Given the description of an element on the screen output the (x, y) to click on. 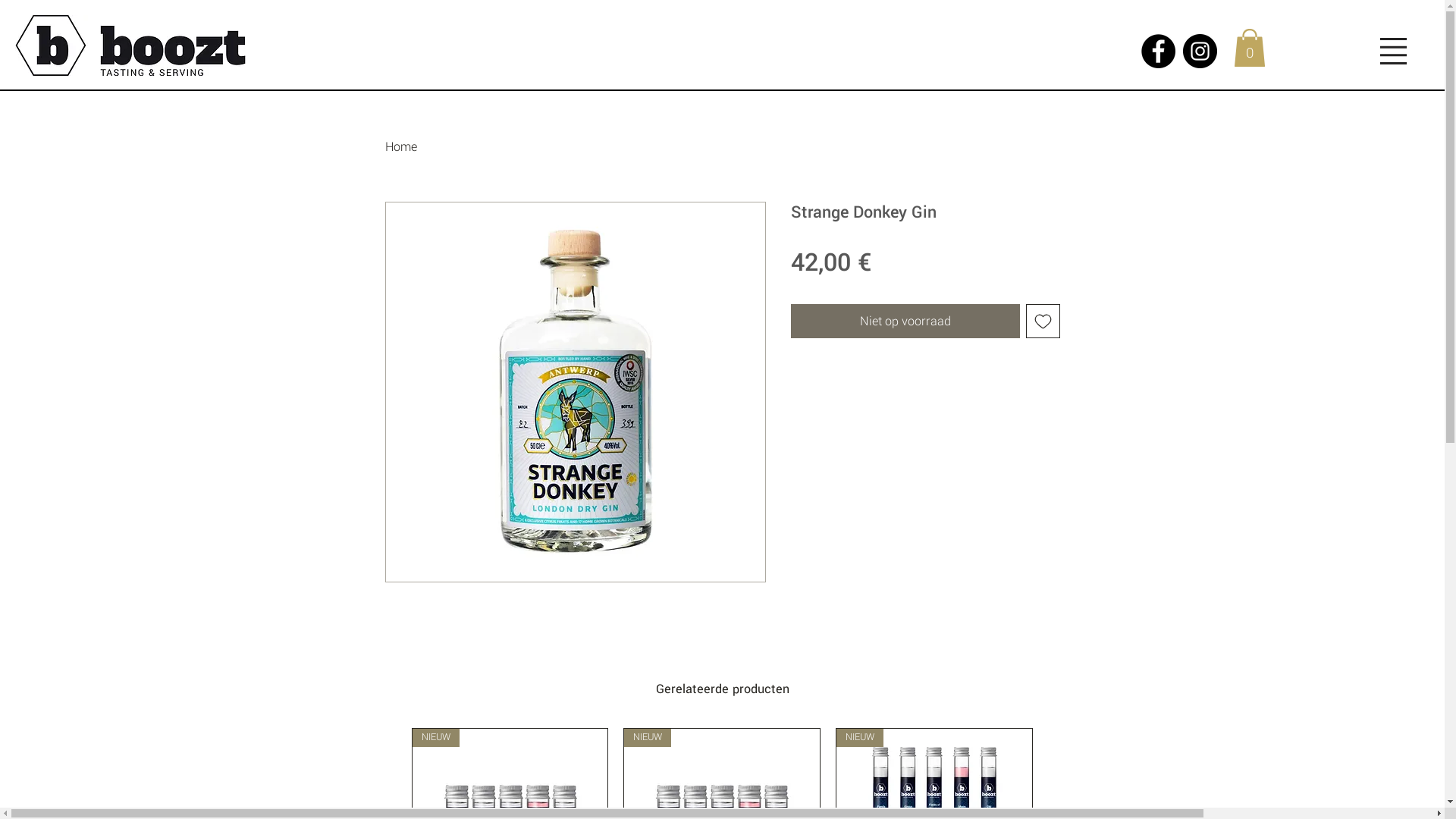
Niet op voorraad Element type: text (904, 321)
0 Element type: text (1249, 47)
Home Element type: text (401, 146)
